Given the description of an element on the screen output the (x, y) to click on. 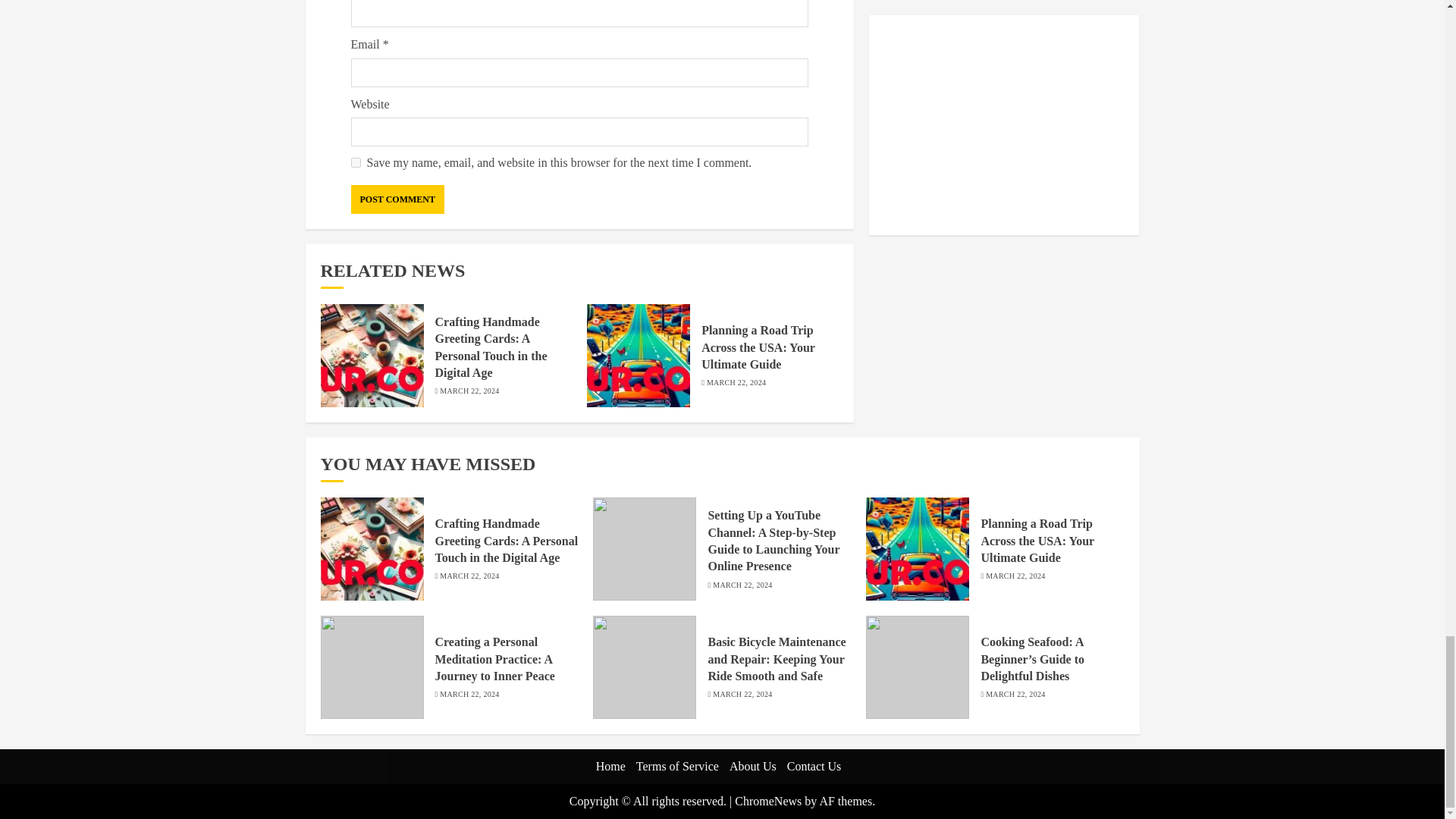
Post Comment (397, 199)
Planning a Road Trip Across the USA: Your Ultimate Guide (1036, 540)
MARCH 22, 2024 (1015, 575)
yes (354, 162)
MARCH 22, 2024 (469, 390)
Post Comment (397, 199)
MARCH 22, 2024 (469, 575)
MARCH 22, 2024 (469, 694)
MARCH 22, 2024 (742, 584)
Planning a Road Trip Across the USA: Your Ultimate Guide (758, 347)
MARCH 22, 2024 (735, 382)
